Given the description of an element on the screen output the (x, y) to click on. 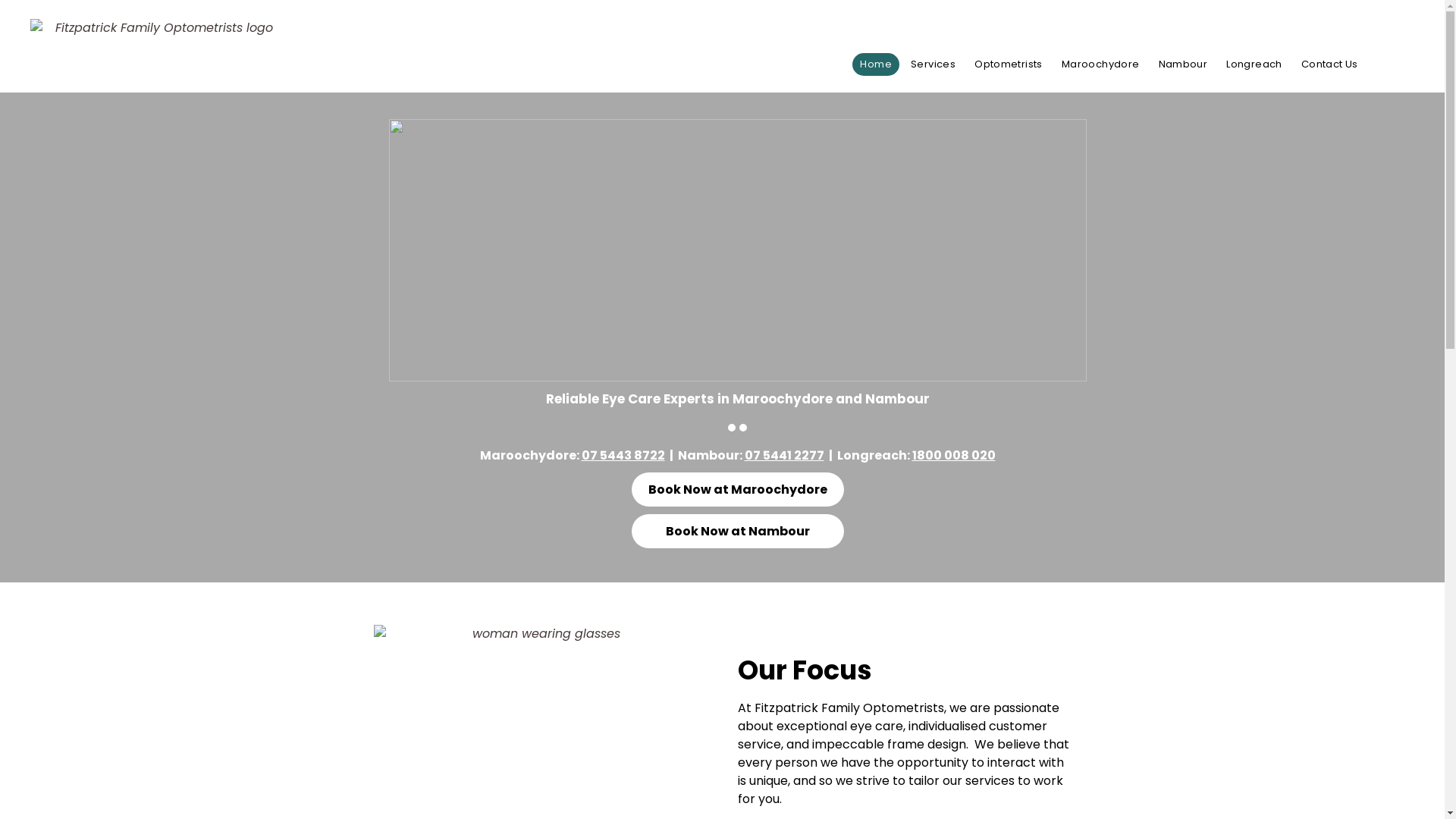
Maroochydore Element type: text (1100, 64)
Nambour Element type: text (1183, 64)
Home Element type: text (875, 64)
07 5443 8722 Element type: text (607, 16)
07 5443 8722 Element type: text (622, 455)
1800 008 020 Element type: text (937, 16)
07 5441 2277 Element type: text (769, 16)
Book Now at Nambour Element type: text (736, 531)
Optometrists Element type: text (1008, 64)
1800 008 020 Element type: text (952, 455)
Book Now at Maroochydore Element type: text (736, 489)
Services Element type: text (933, 64)
Longreach Element type: text (1253, 64)
Contact Us Element type: text (1329, 64)
07 5441 2277 Element type: text (784, 455)
